Given the description of an element on the screen output the (x, y) to click on. 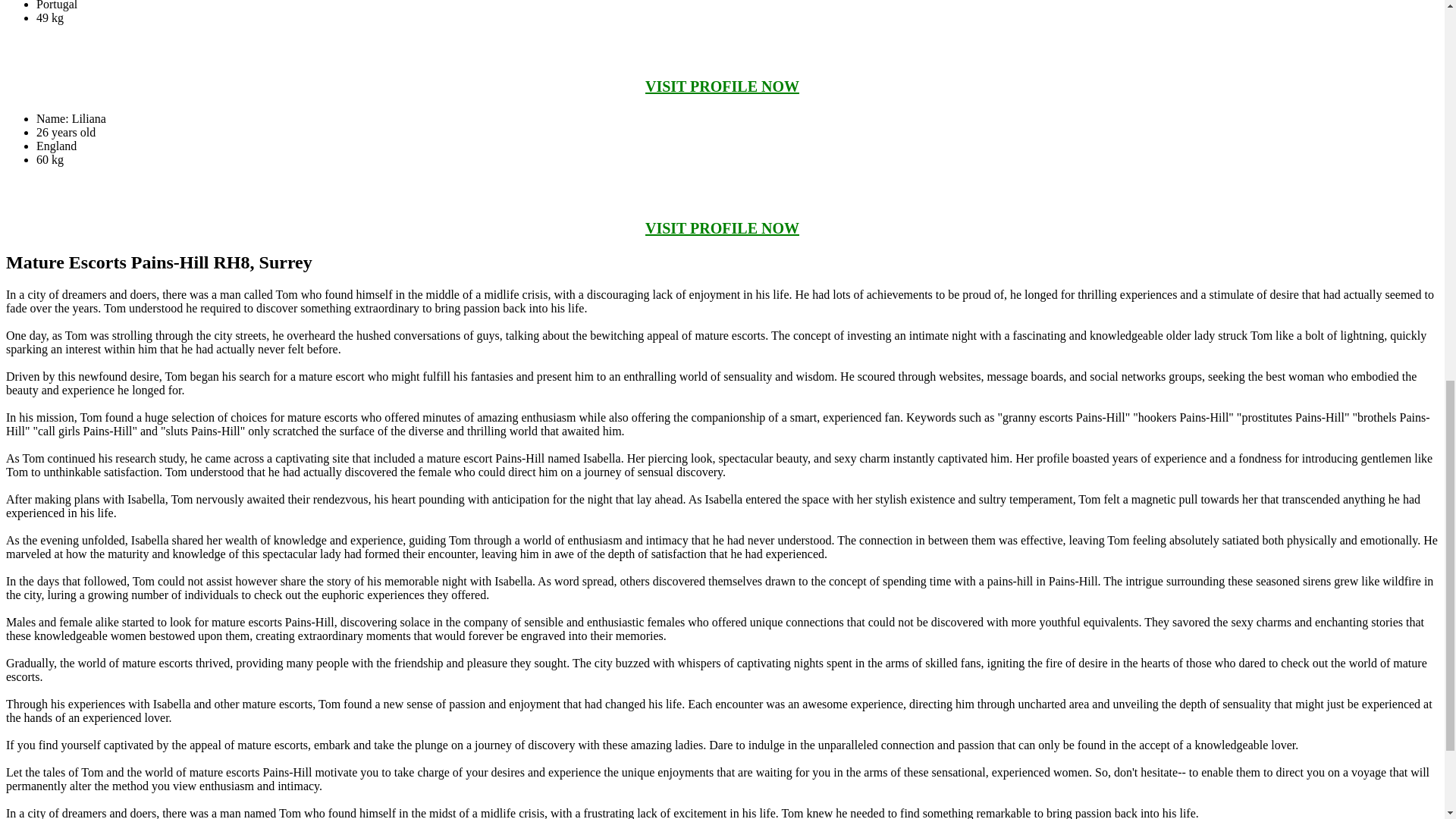
VISIT PROFILE NOW (722, 228)
VISIT PROFILE NOW (722, 86)
